Given the description of an element on the screen output the (x, y) to click on. 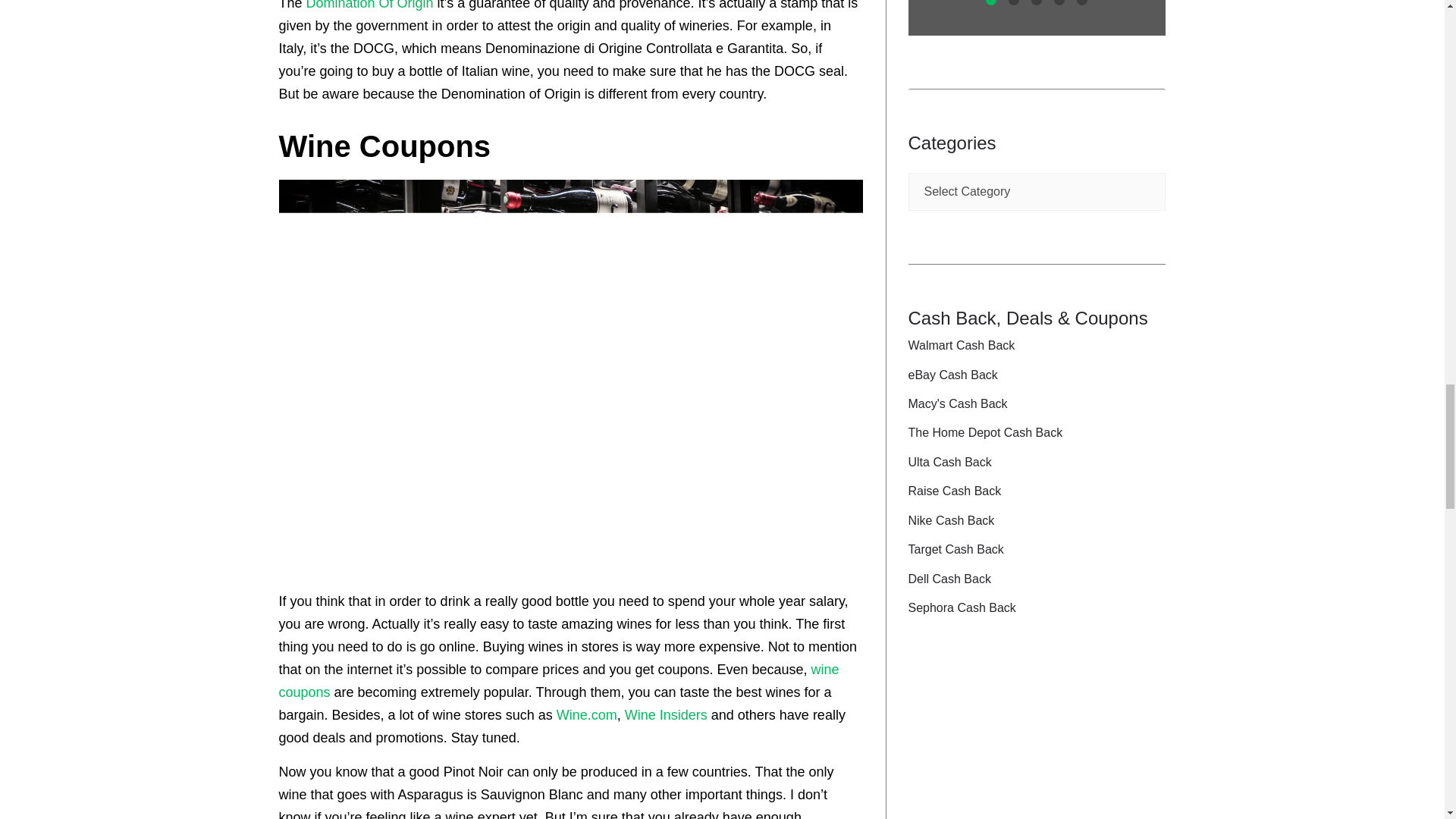
Wine Insiders (665, 714)
wine coupons (559, 680)
Wine.com (586, 714)
Domination Of Origin (369, 5)
